Given the description of an element on the screen output the (x, y) to click on. 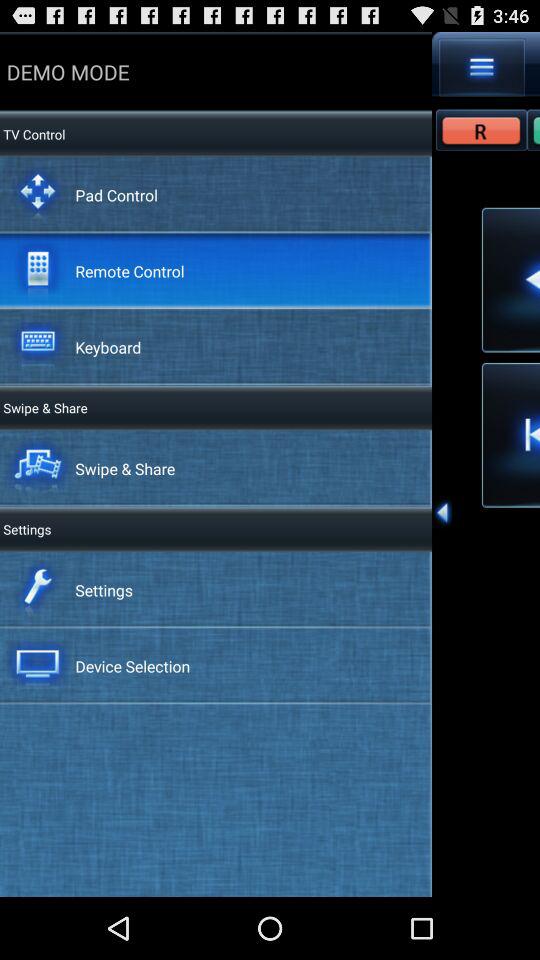
scroll until the pad control (116, 194)
